Given the description of an element on the screen output the (x, y) to click on. 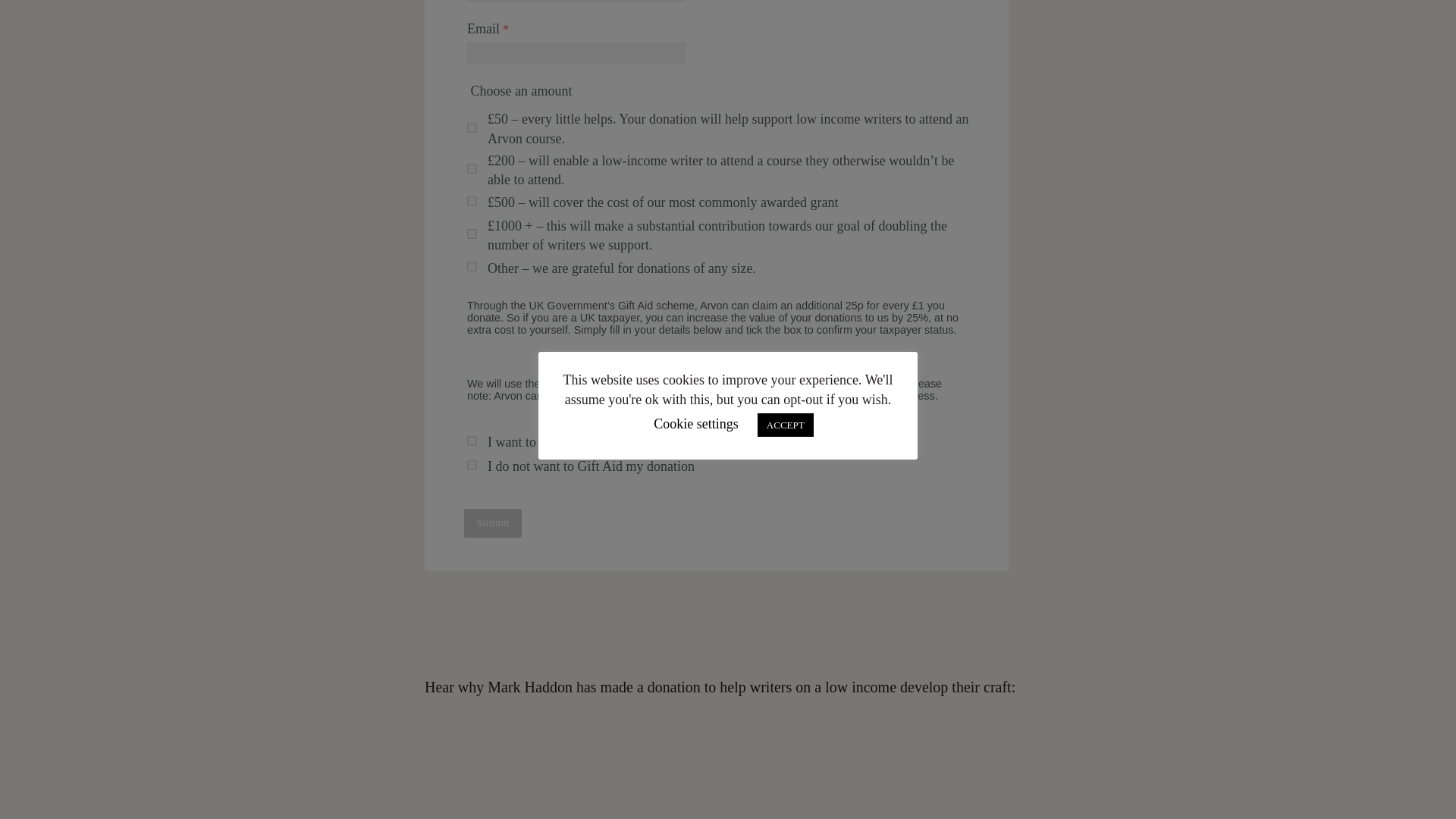
Last name (576, 1)
